Given the description of an element on the screen output the (x, y) to click on. 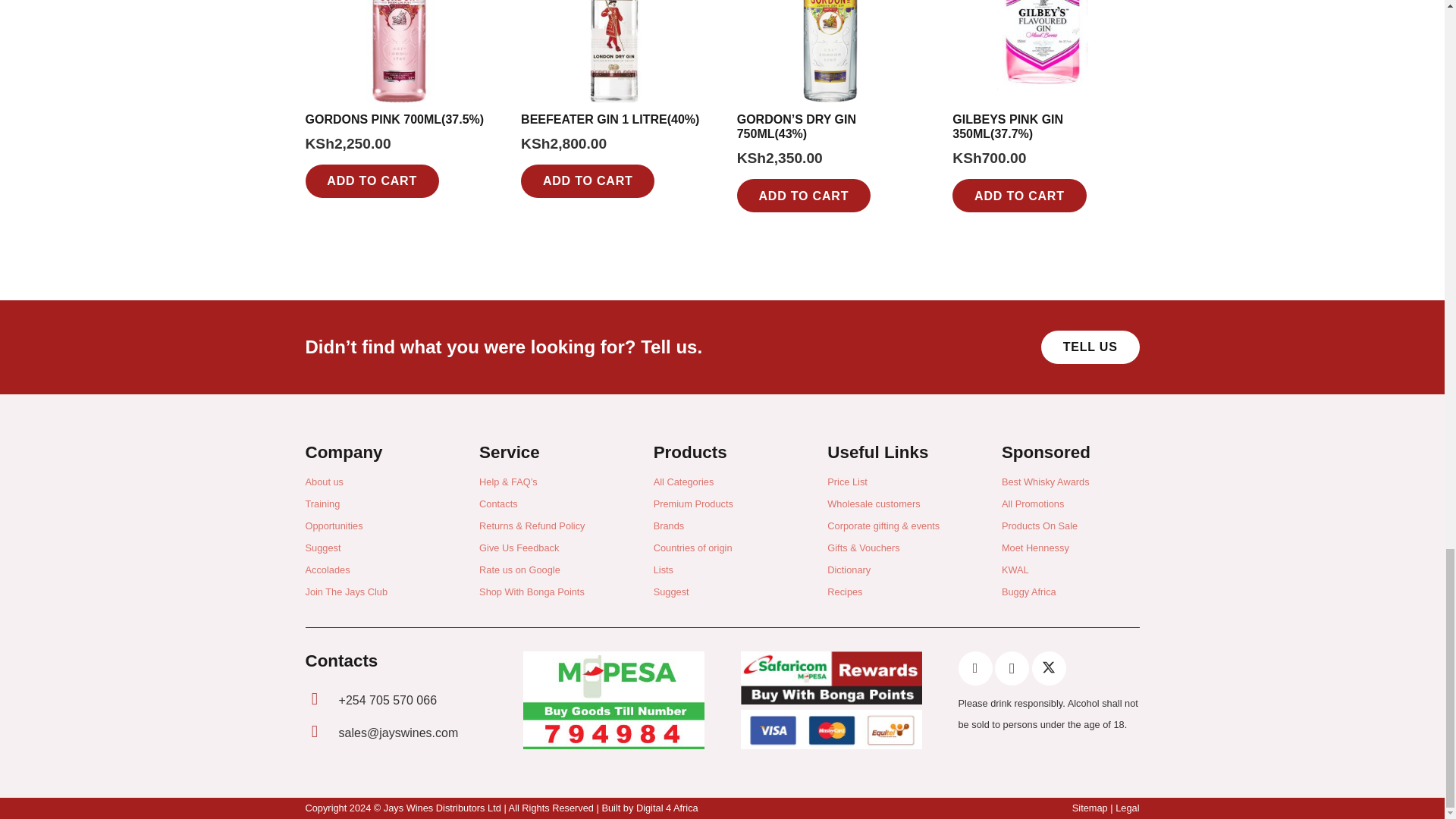
Missing Products On Our Website (1090, 347)
Twitter (1048, 668)
Facebook (975, 668)
Instagram (1011, 668)
